Given the description of an element on the screen output the (x, y) to click on. 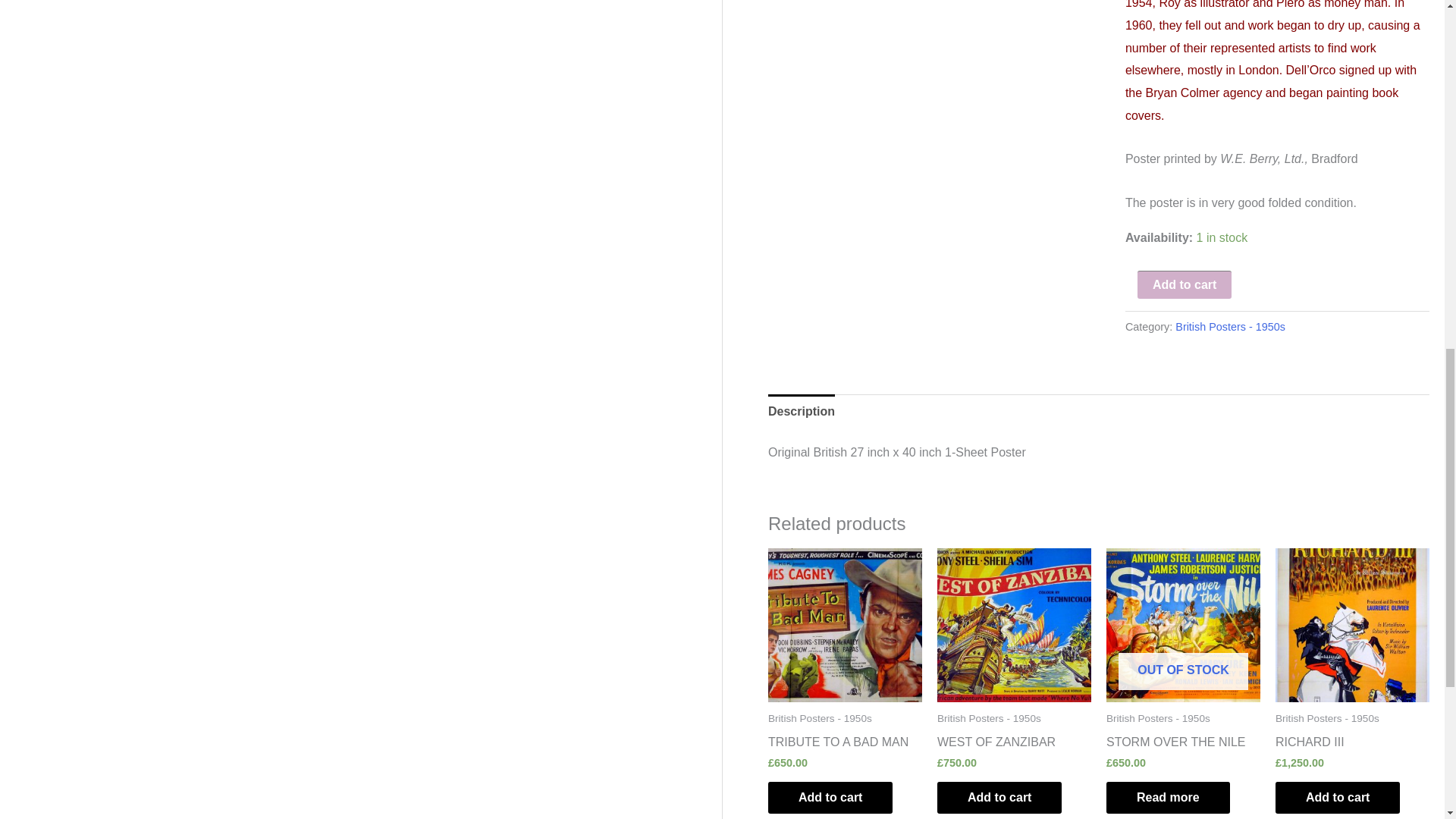
British Posters - 1950s (1229, 326)
OUT OF STOCK (1183, 624)
Description (801, 411)
Add to cart (1337, 798)
Add to cart (830, 798)
Read more (1168, 798)
STORM OVER THE NILE (1175, 745)
Add to cart (999, 798)
RICHARD III (1309, 745)
WEST OF ZANZIBAR (996, 745)
